Given the description of an element on the screen output the (x, y) to click on. 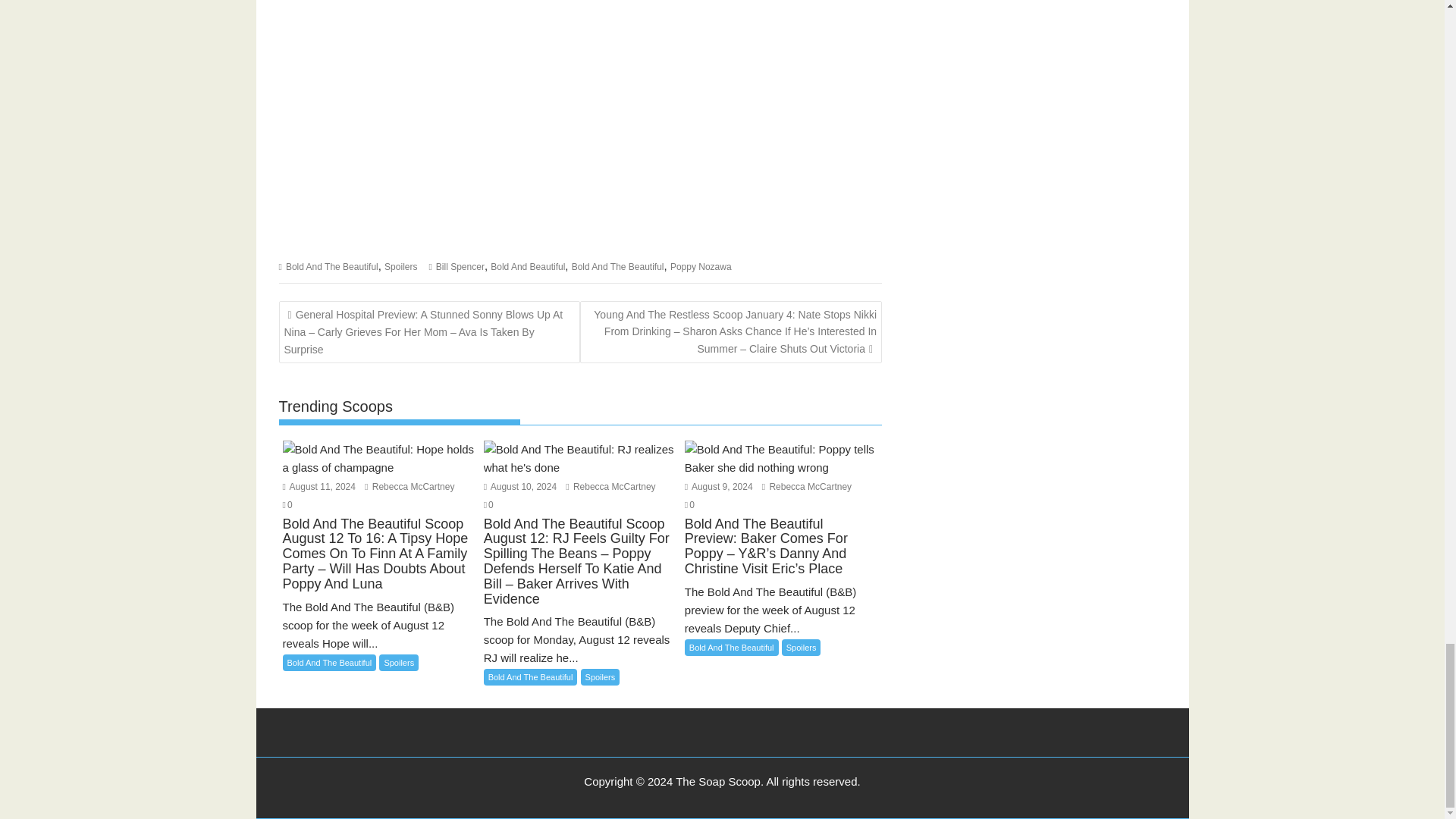
Rebecca McCartney (409, 486)
Rebecca McCartney (610, 486)
Bold And The Beautiful (617, 266)
Spoilers (400, 266)
Rebecca McCartney (806, 486)
Bill Spencer (459, 266)
Bold And Beautiful (527, 266)
Bold And The Beautiful (331, 266)
